Given the description of an element on the screen output the (x, y) to click on. 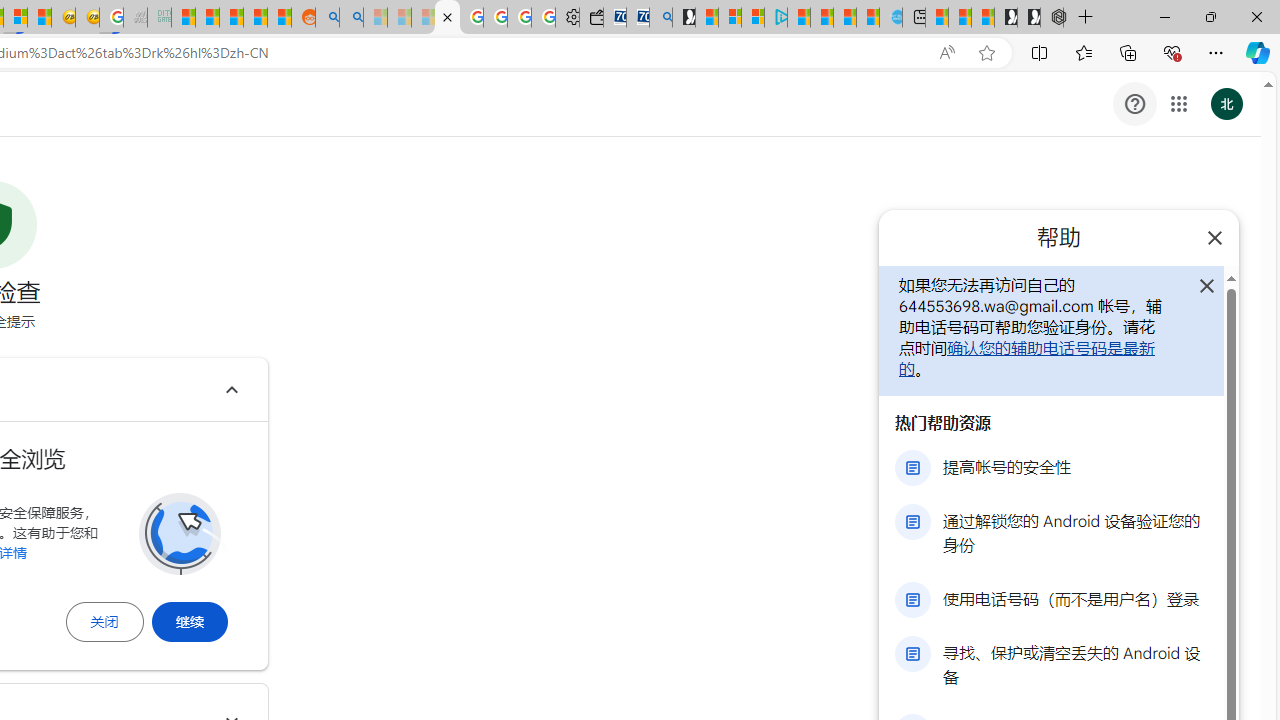
Home | Sky Blue Bikes - Sky Blue Bikes (890, 17)
Student Loan Update: Forgiveness Program Ends This Month (255, 17)
Play Free Online Games | Games from Microsoft Start (1028, 17)
Utah sues federal government - Search (351, 17)
